Given the description of an element on the screen output the (x, y) to click on. 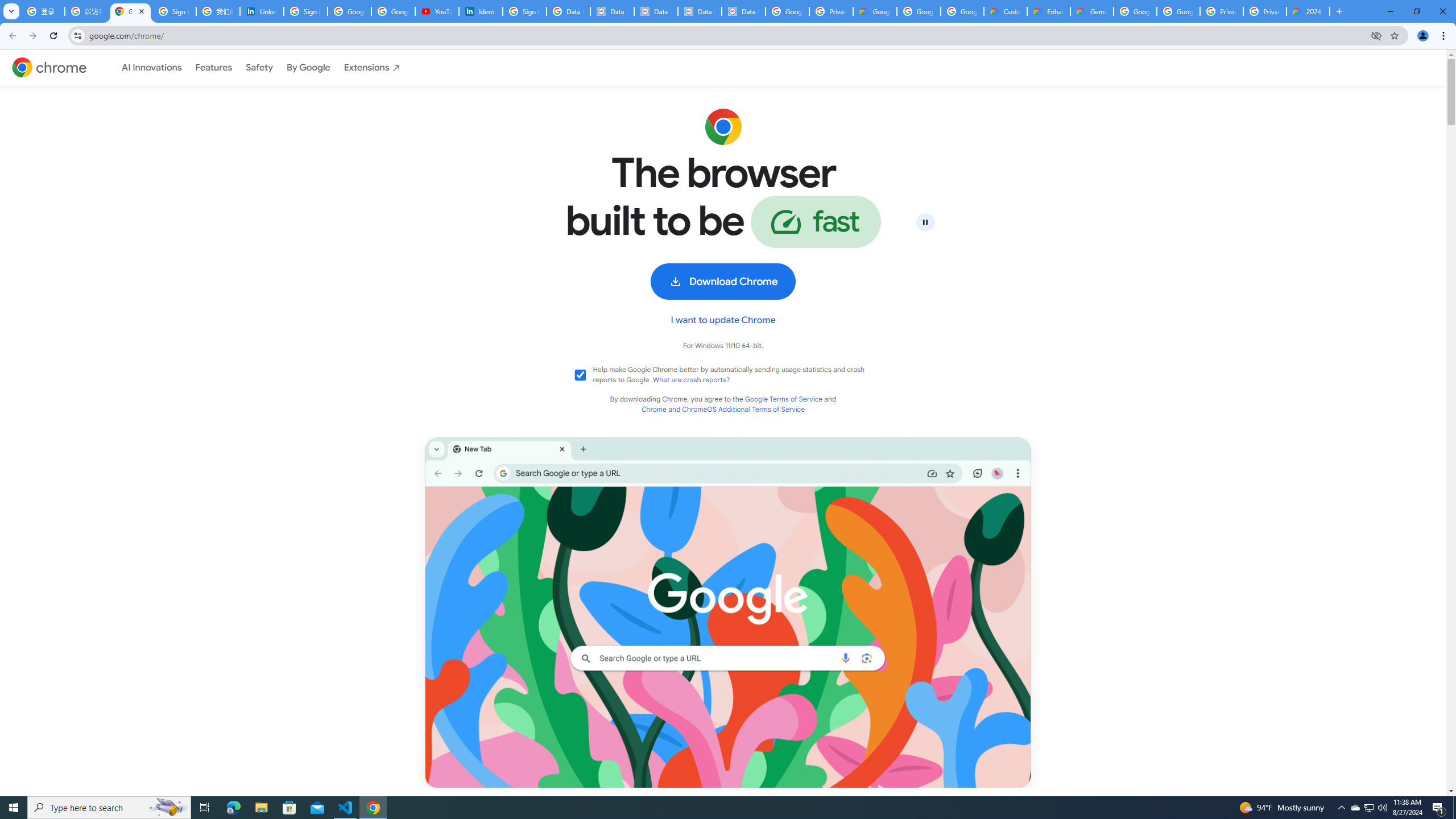
By Google (308, 67)
What are crash reports? (691, 379)
ai innovations (152, 67)
ai innovations (152, 67)
